Given the description of an element on the screen output the (x, y) to click on. 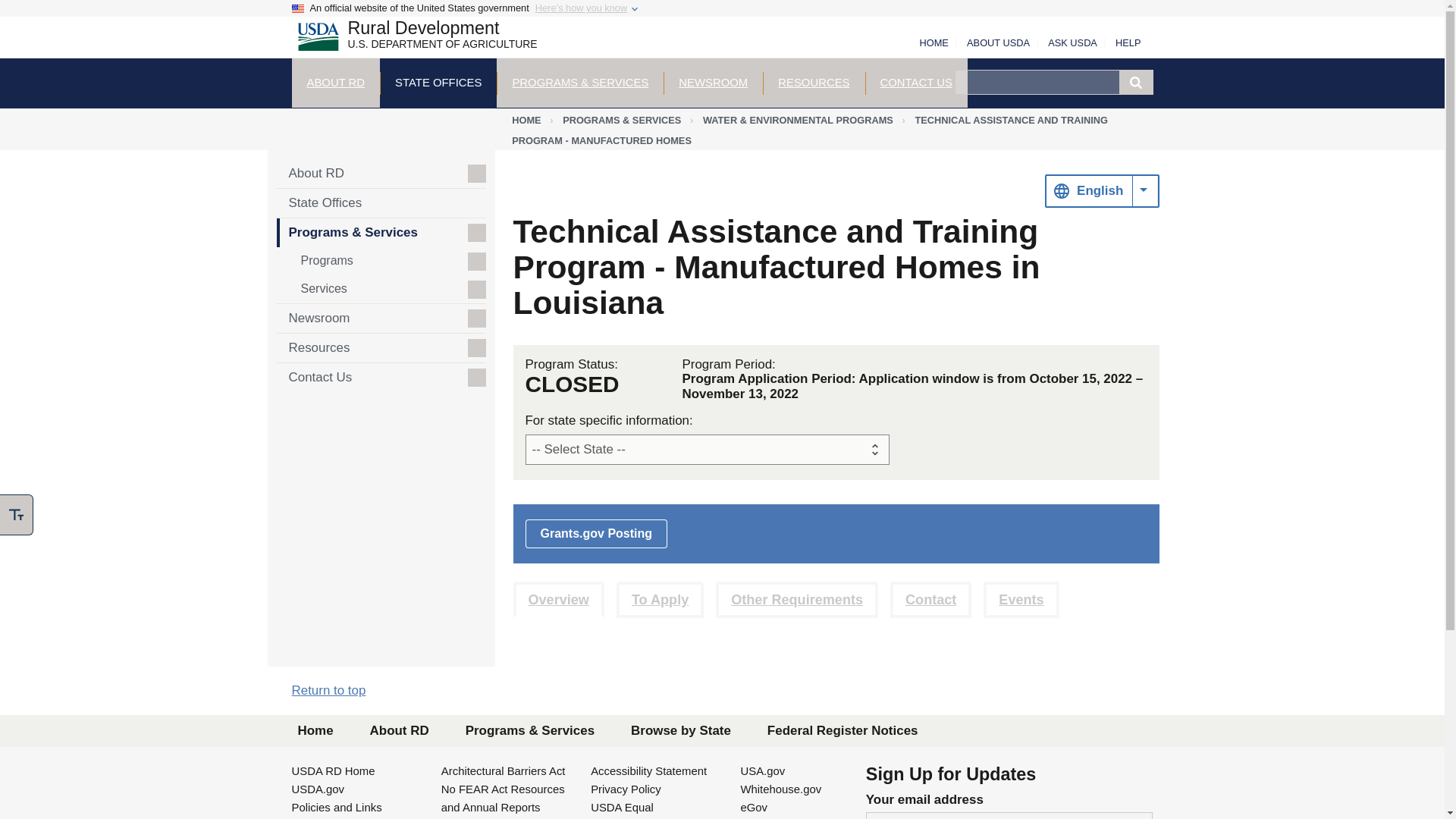
About RD (335, 82)
ABOUT RD (410, 38)
Home (335, 82)
Skip to main content (410, 38)
